Given the description of an element on the screen output the (x, y) to click on. 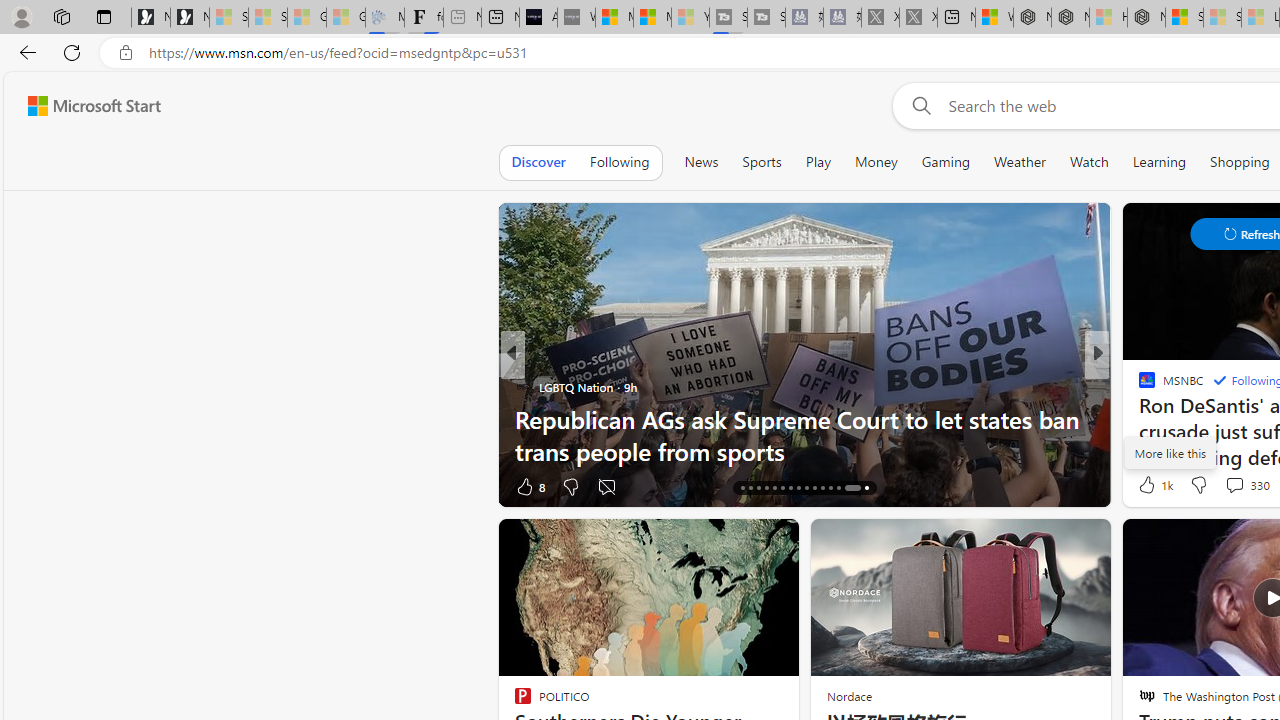
AutomationID: tab-27 (829, 487)
View comments 330 Comment (1234, 485)
Comments turned off for this story (606, 485)
Hide this story (738, 542)
